Given the description of an element on the screen output the (x, y) to click on. 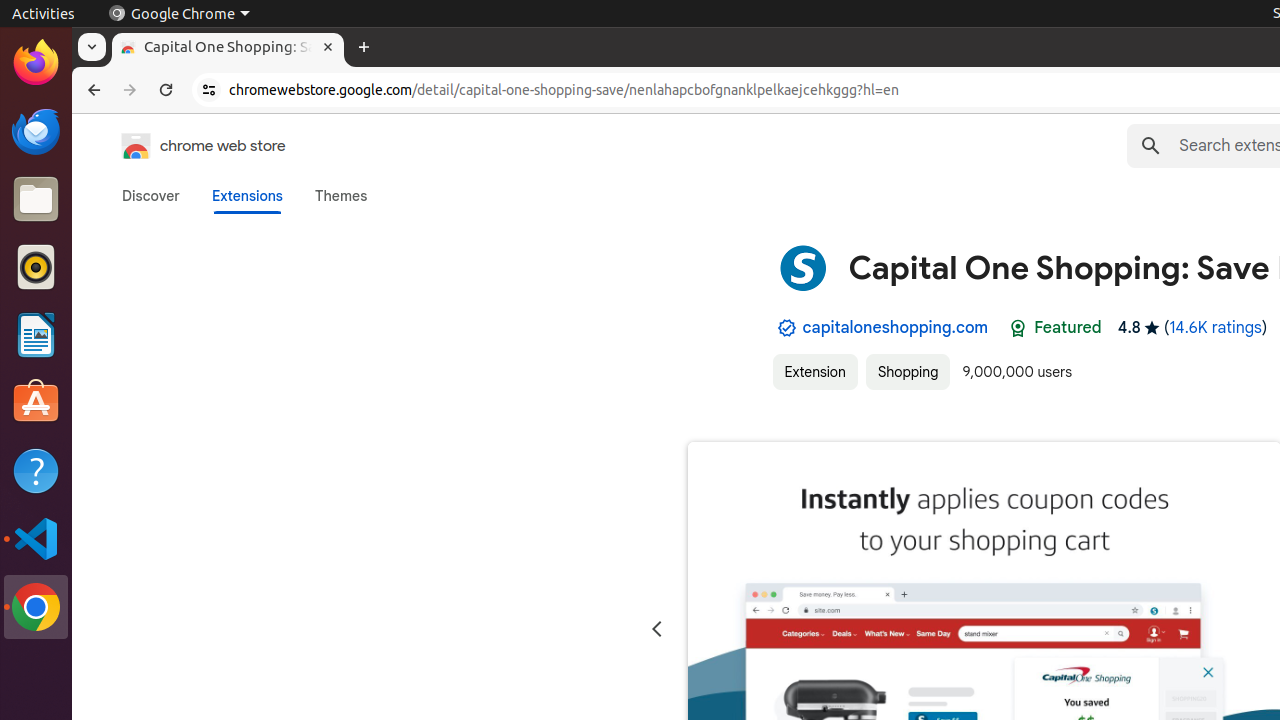
Themes Element type: page-tab (341, 196)
Chrome Web Store logo chrome web store Element type: link (183, 146)
14.6K ratings Element type: link (1215, 328)
Extensions Element type: page-tab (247, 196)
Featured Badge Element type: push-button (1018, 328)
